Given the description of an element on the screen output the (x, y) to click on. 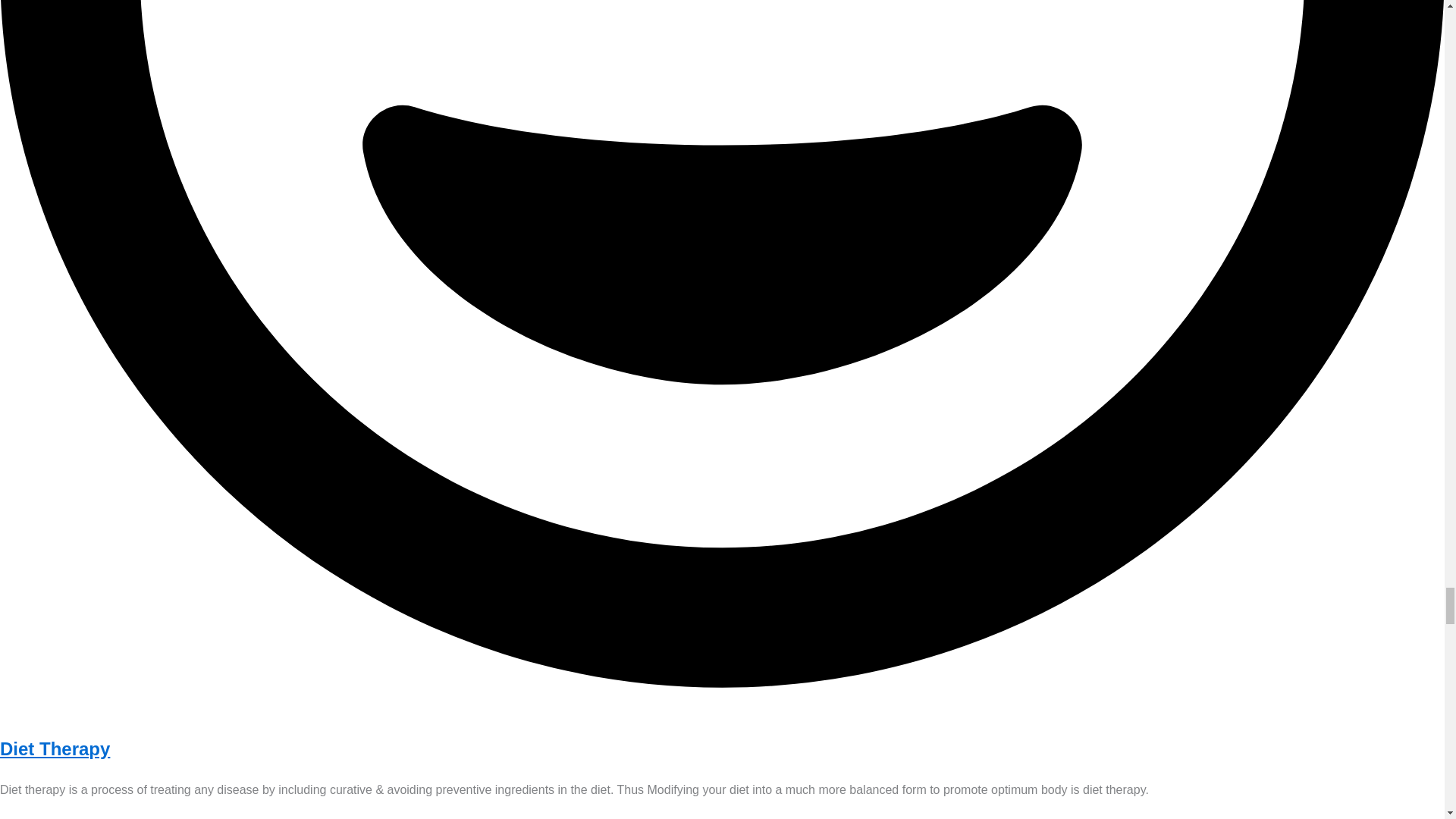
Diet Therapy (55, 748)
